Given the description of an element on the screen output the (x, y) to click on. 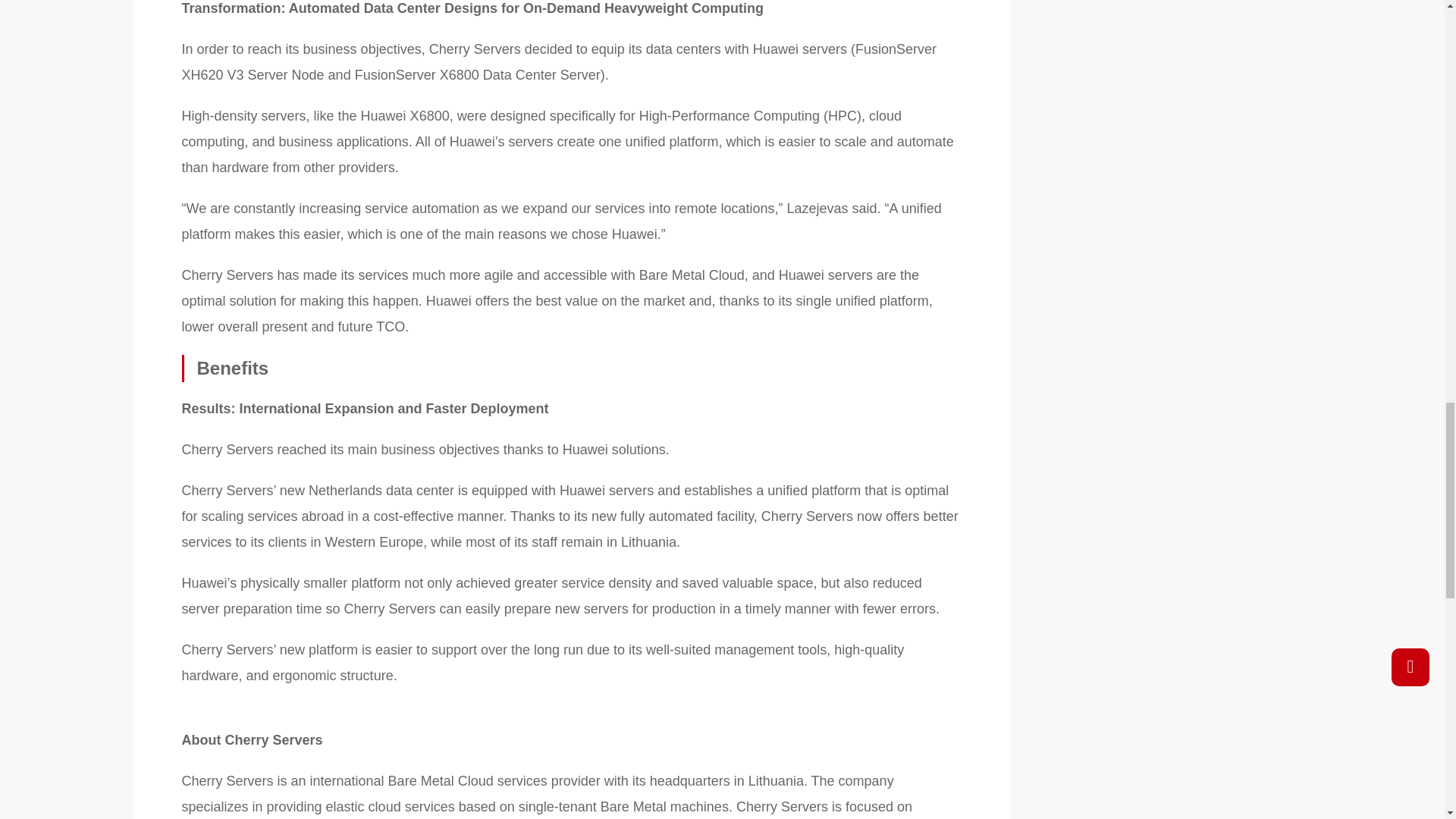
Benefits (571, 368)
